Given the description of an element on the screen output the (x, y) to click on. 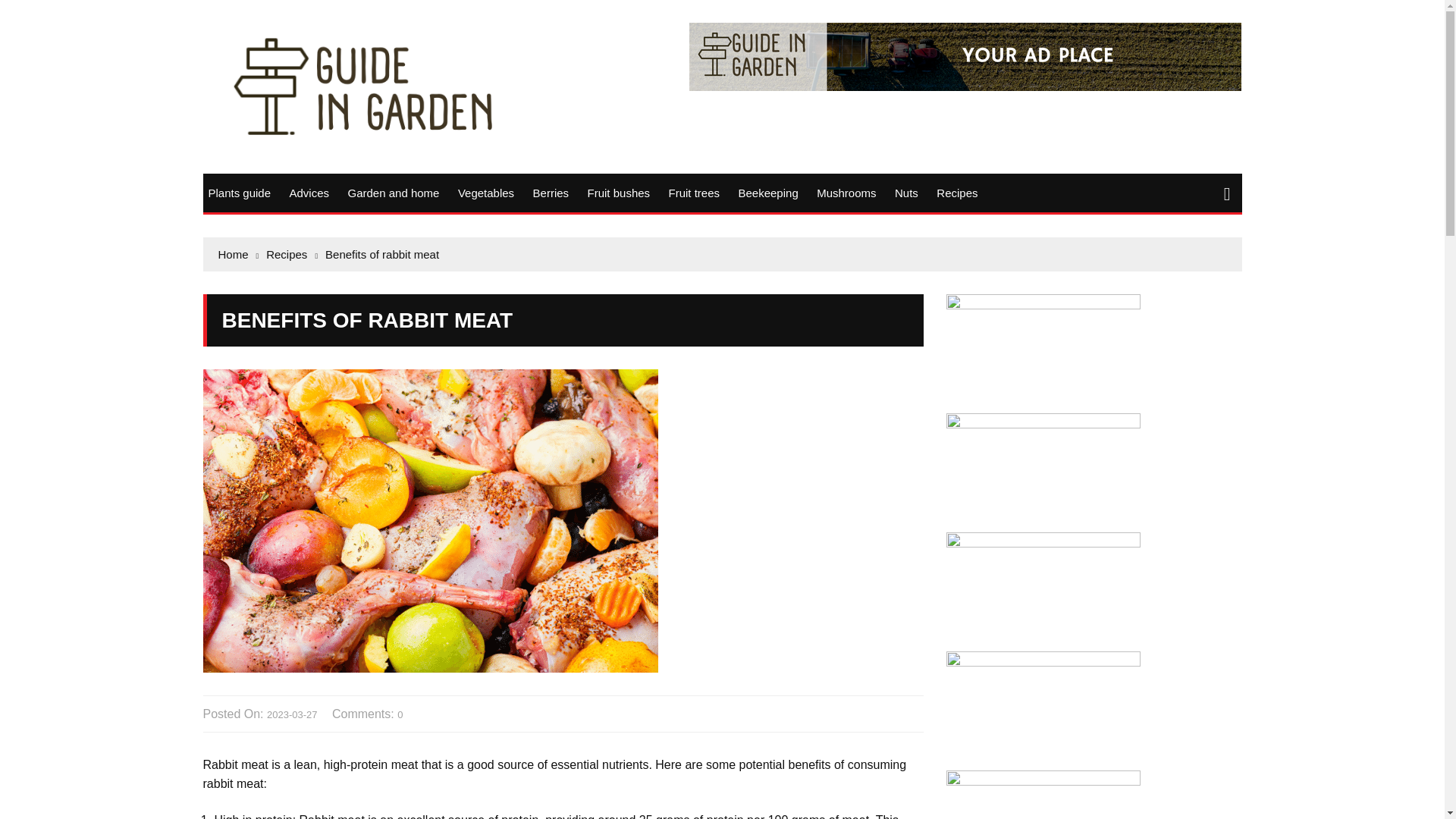
Garden and home (392, 192)
Plants guide (239, 192)
Advices (309, 192)
Fruit trees (694, 192)
Mushrooms (846, 192)
Recipes (956, 192)
Fruit bushes (618, 192)
Nuts (906, 192)
Berries (550, 192)
Vegetables (485, 192)
